Given the description of an element on the screen output the (x, y) to click on. 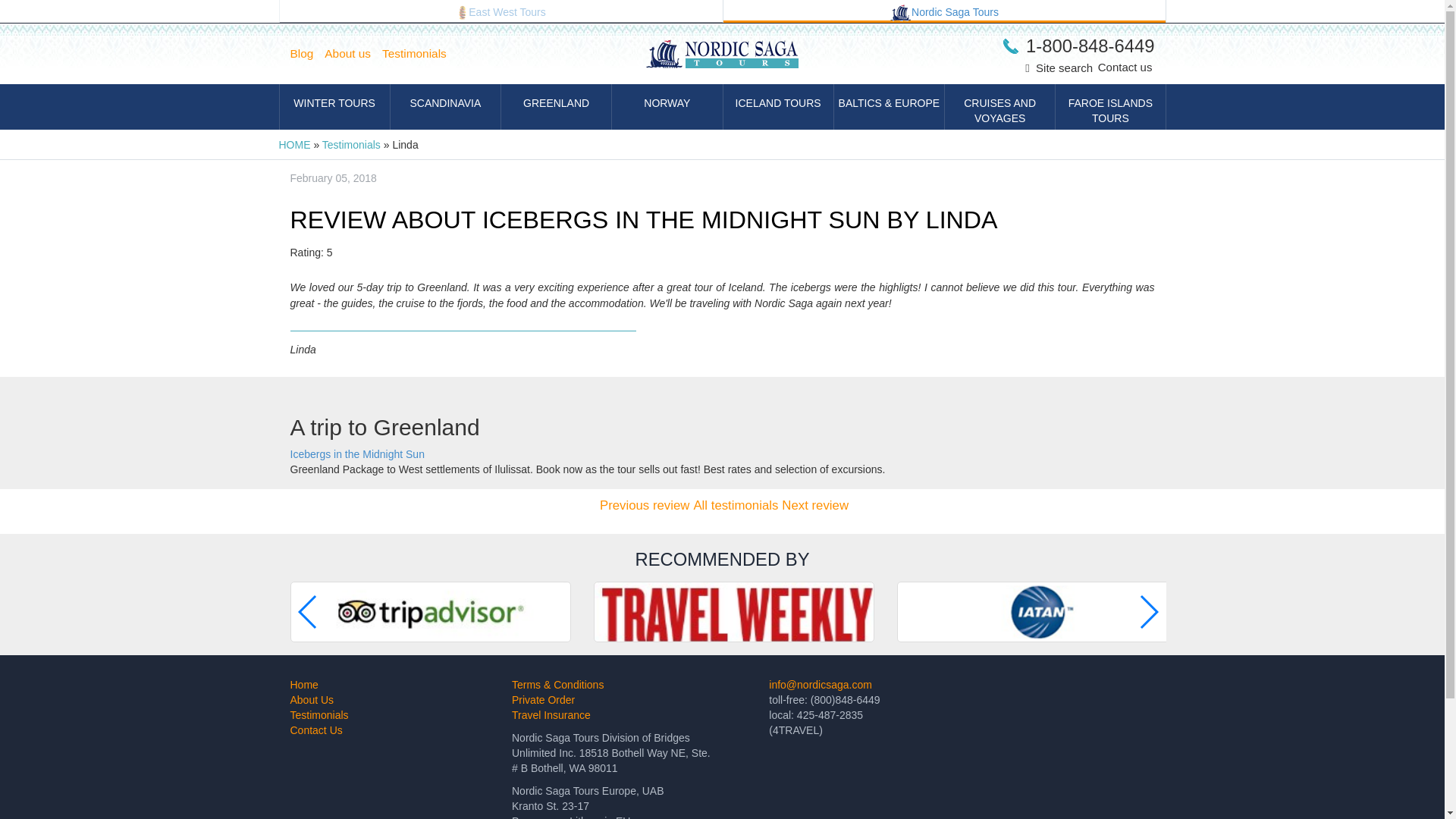
Testimonials (419, 53)
FAROE ISLANDS (1109, 106)
Nordic Saga Tours (944, 11)
Contact us (1125, 66)
East West Tours (500, 11)
About us (352, 53)
HOME (295, 144)
1-800-848-6449 (1078, 46)
Testimonials (350, 144)
WINTER TOURS (333, 106)
Steven Fry (814, 504)
NORDICSAGA.COM (944, 11)
scandinavian tours (900, 13)
Blog (306, 53)
